Given the description of an element on the screen output the (x, y) to click on. 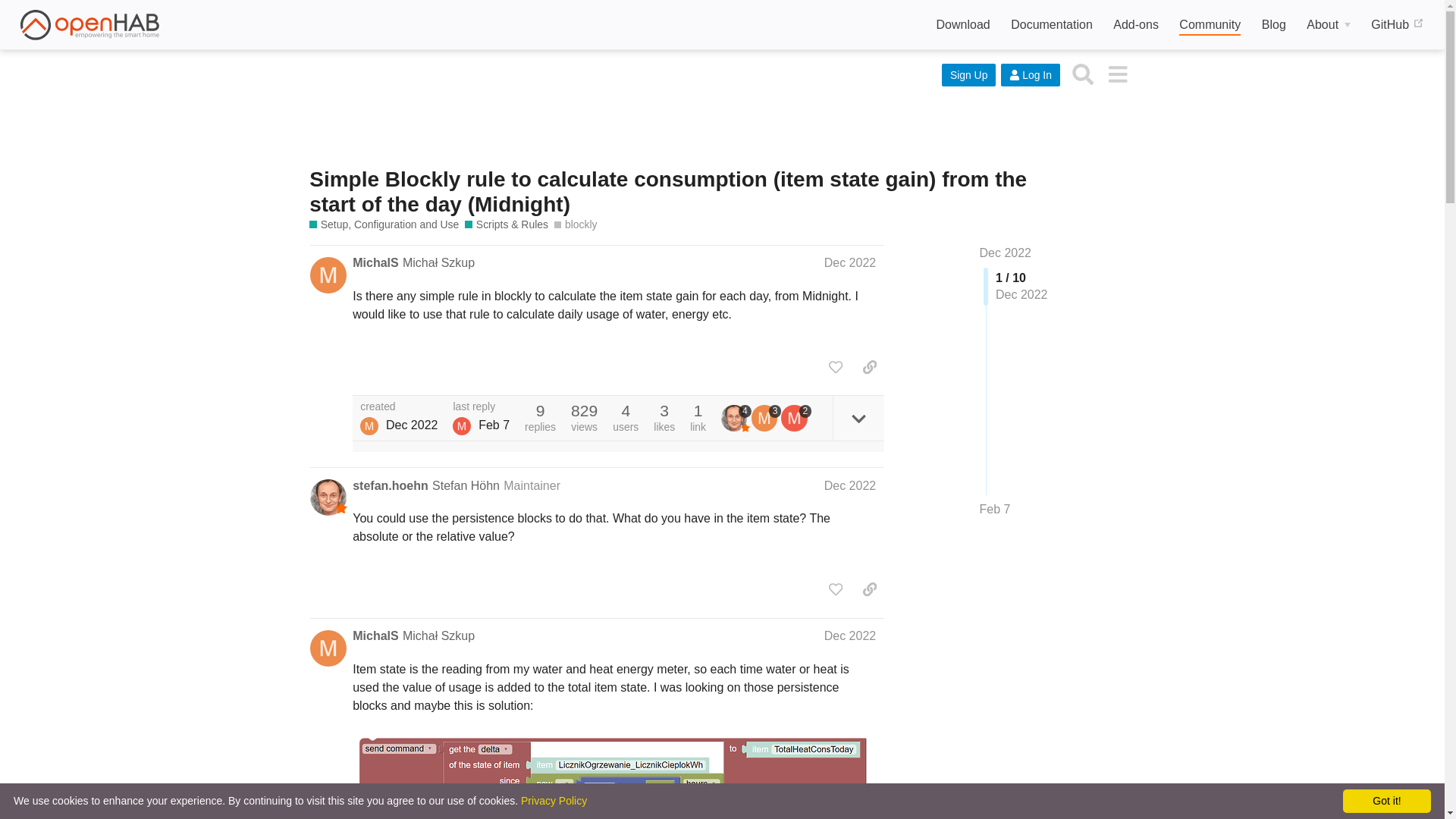
expand topic details (857, 417)
Add-ons (1135, 25)
Community (1209, 25)
Documentation (1051, 25)
About (1328, 25)
menu (1117, 73)
MarcV (461, 425)
like this post (835, 366)
Download (963, 25)
Setup, Configuration and Use (383, 224)
Search (1082, 73)
Blog (1273, 25)
Dec 2022 (1005, 252)
Sign Up (968, 74)
